Given the description of an element on the screen output the (x, y) to click on. 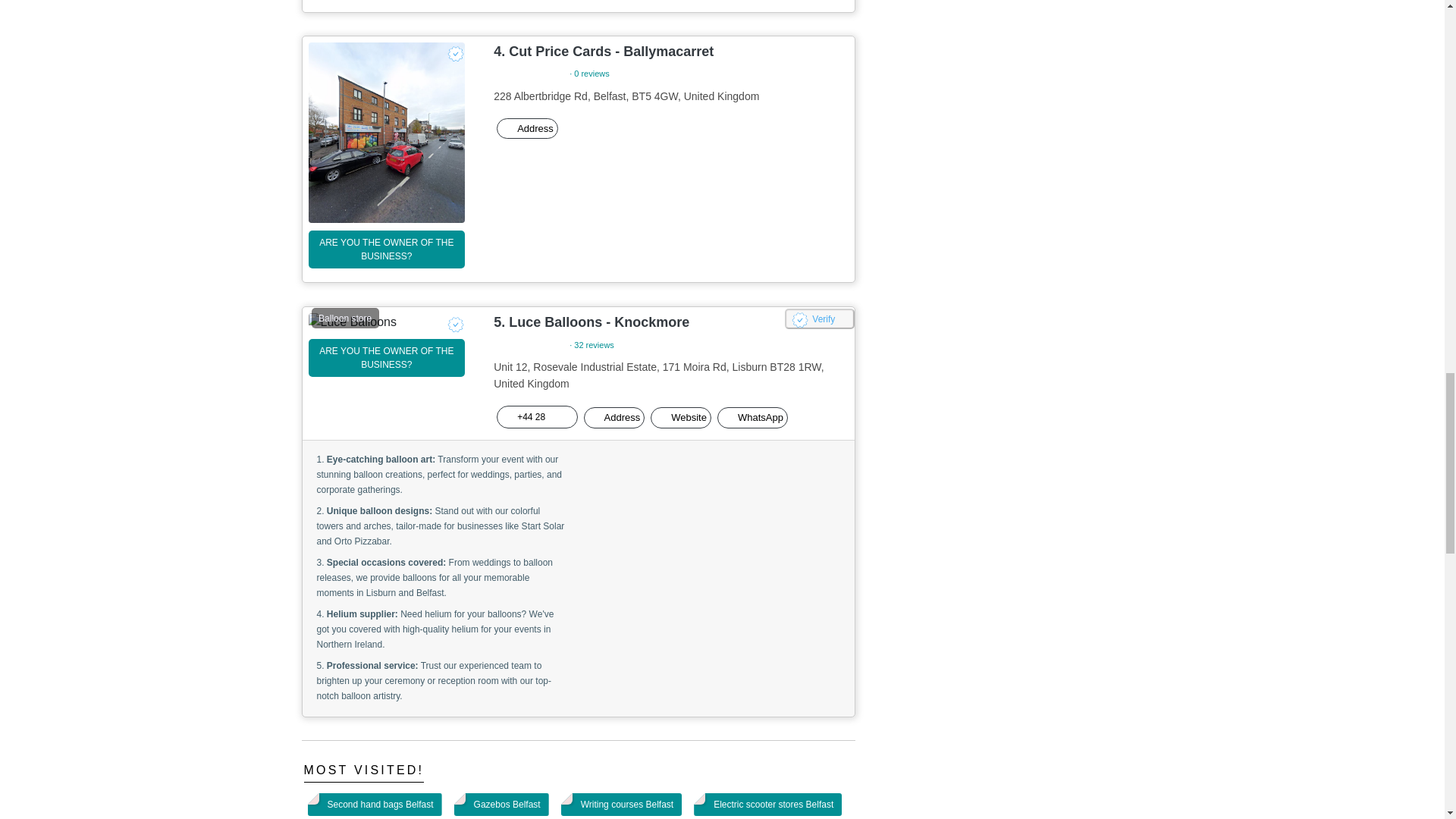
Instagram feed (621, 804)
